Given the description of an element on the screen output the (x, y) to click on. 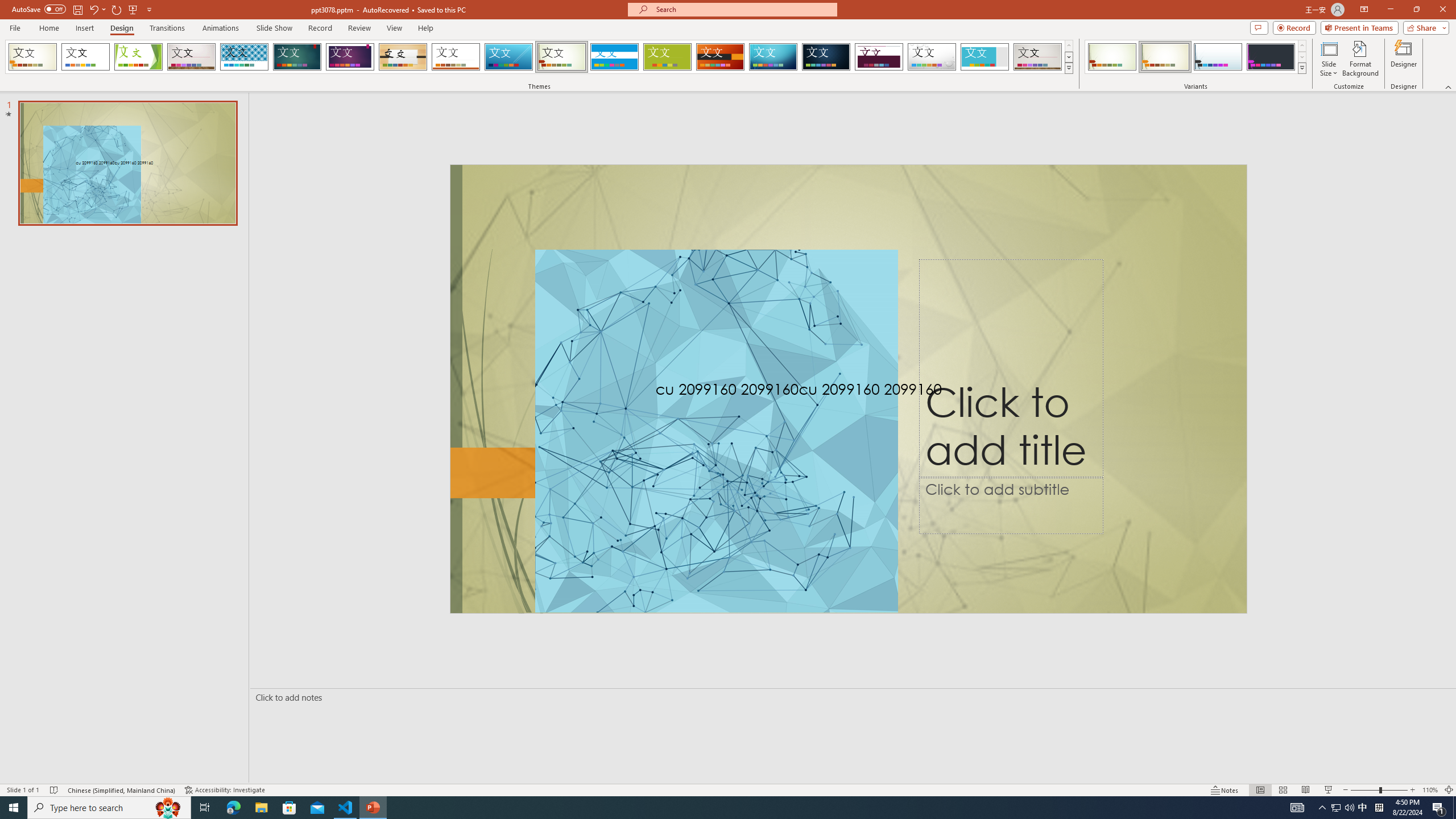
Wisp Variant 2 (1164, 56)
Ion Boardroom Loading Preview... (350, 56)
Droplet Loading Preview... (931, 56)
Wisp Variant 1 (1112, 56)
Gallery Loading Preview... (1037, 56)
Dividend Loading Preview... (879, 56)
